Given the description of an element on the screen output the (x, y) to click on. 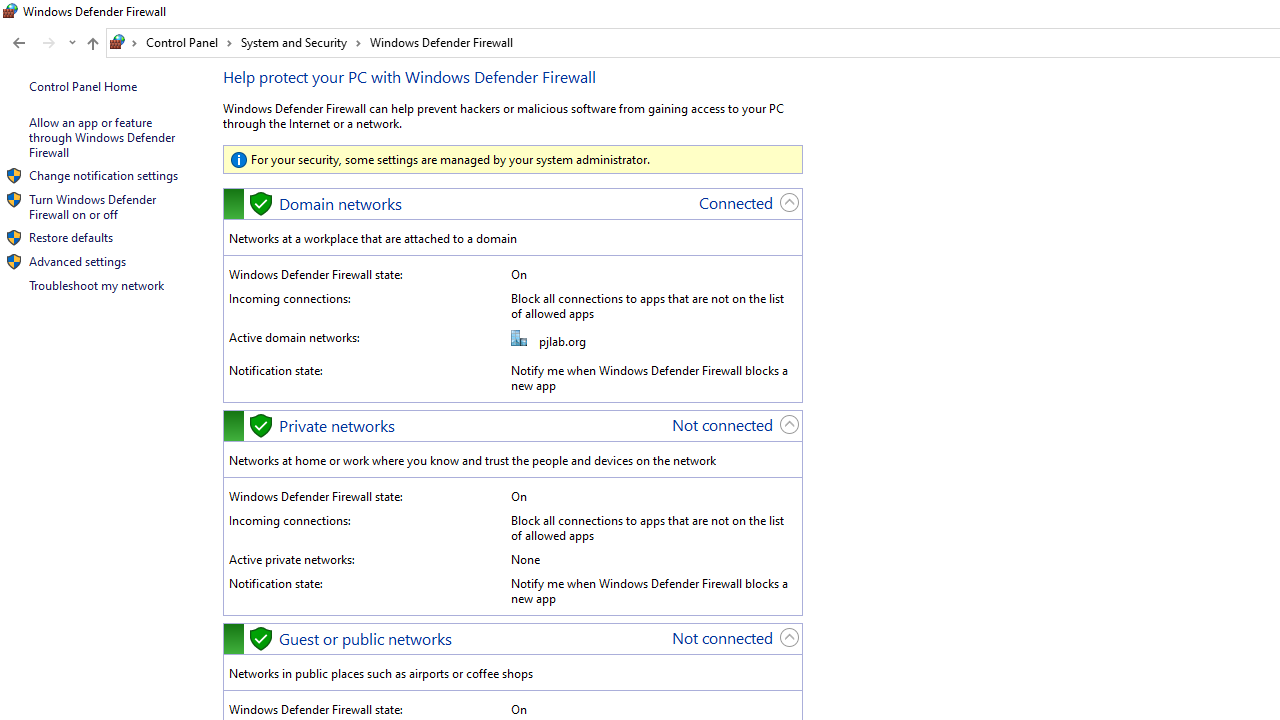
Control Panel (189, 42)
Allow an app or feature through Windows Defender Firewall (103, 137)
System (10, 11)
System (10, 11)
Advanced settings (77, 261)
Up to "System and Security" (Alt + Up Arrow) (92, 43)
Troubleshoot my network (96, 285)
Back to Allowed apps (Alt + Left Arrow) (18, 43)
Restore defaults (70, 236)
System and Security (301, 42)
All locations (124, 42)
Icon (13, 262)
Change notification settings (103, 174)
Up band toolbar (92, 46)
Turn Windows Defender Firewall on or off (93, 206)
